Given the description of an element on the screen output the (x, y) to click on. 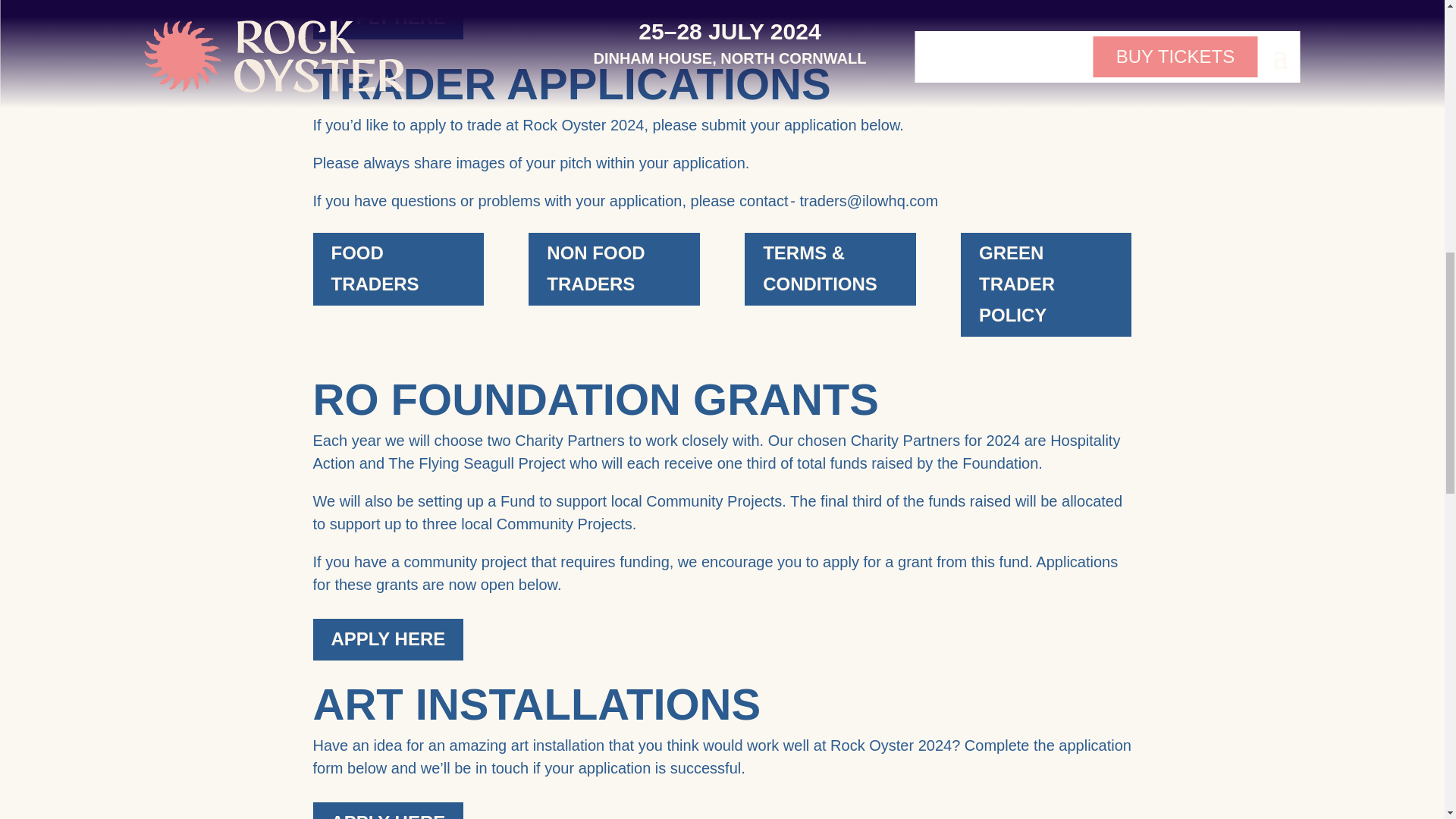
GREEN TRADER POLICY (1045, 284)
FOOD TRADERS (398, 268)
APPLY HERE (388, 19)
NON FOOD TRADERS (613, 268)
